Given the description of an element on the screen output the (x, y) to click on. 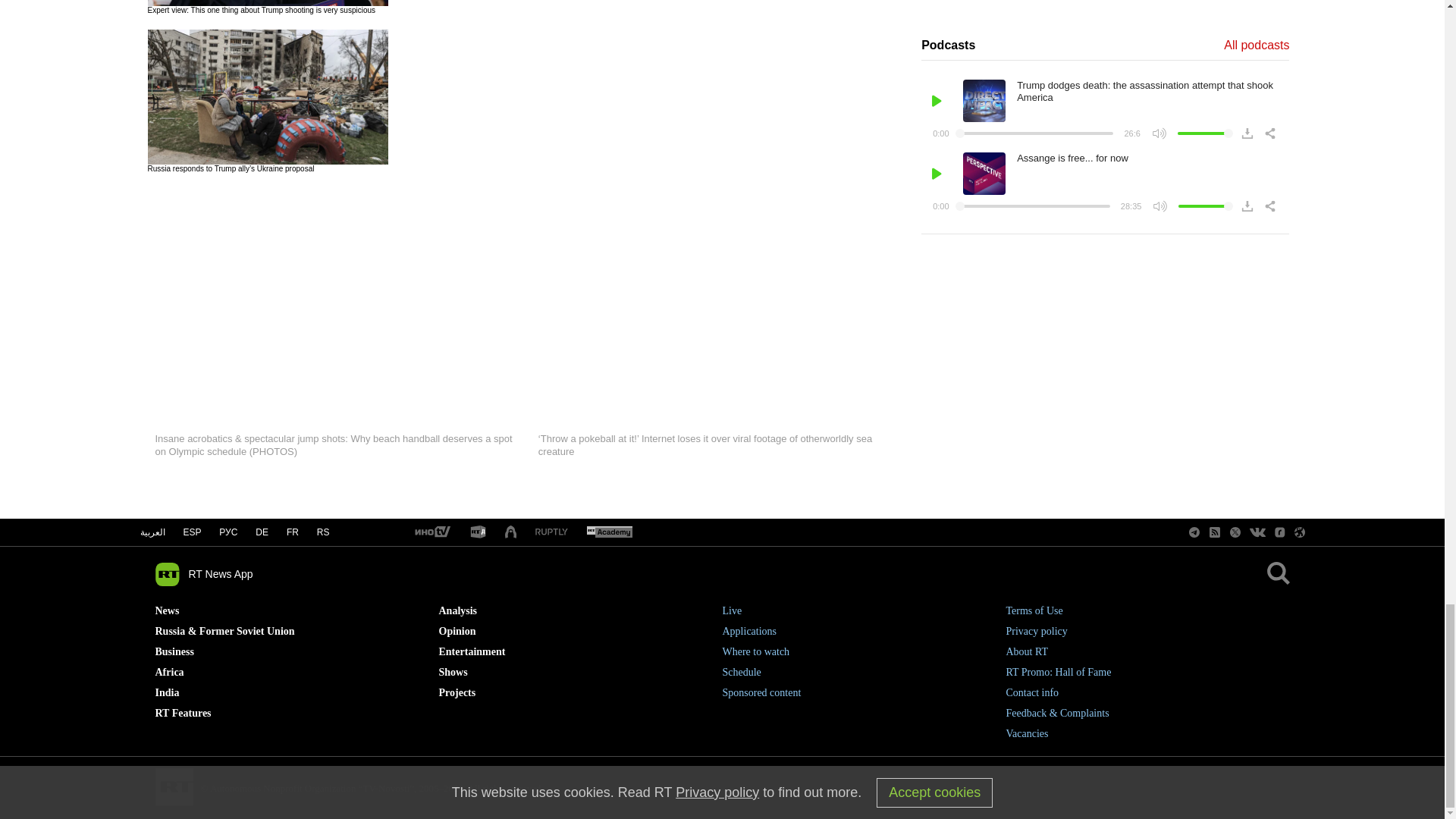
RT  (478, 532)
RT  (431, 532)
RT  (608, 532)
RT  (510, 532)
RT  (551, 532)
